Given the description of an element on the screen output the (x, y) to click on. 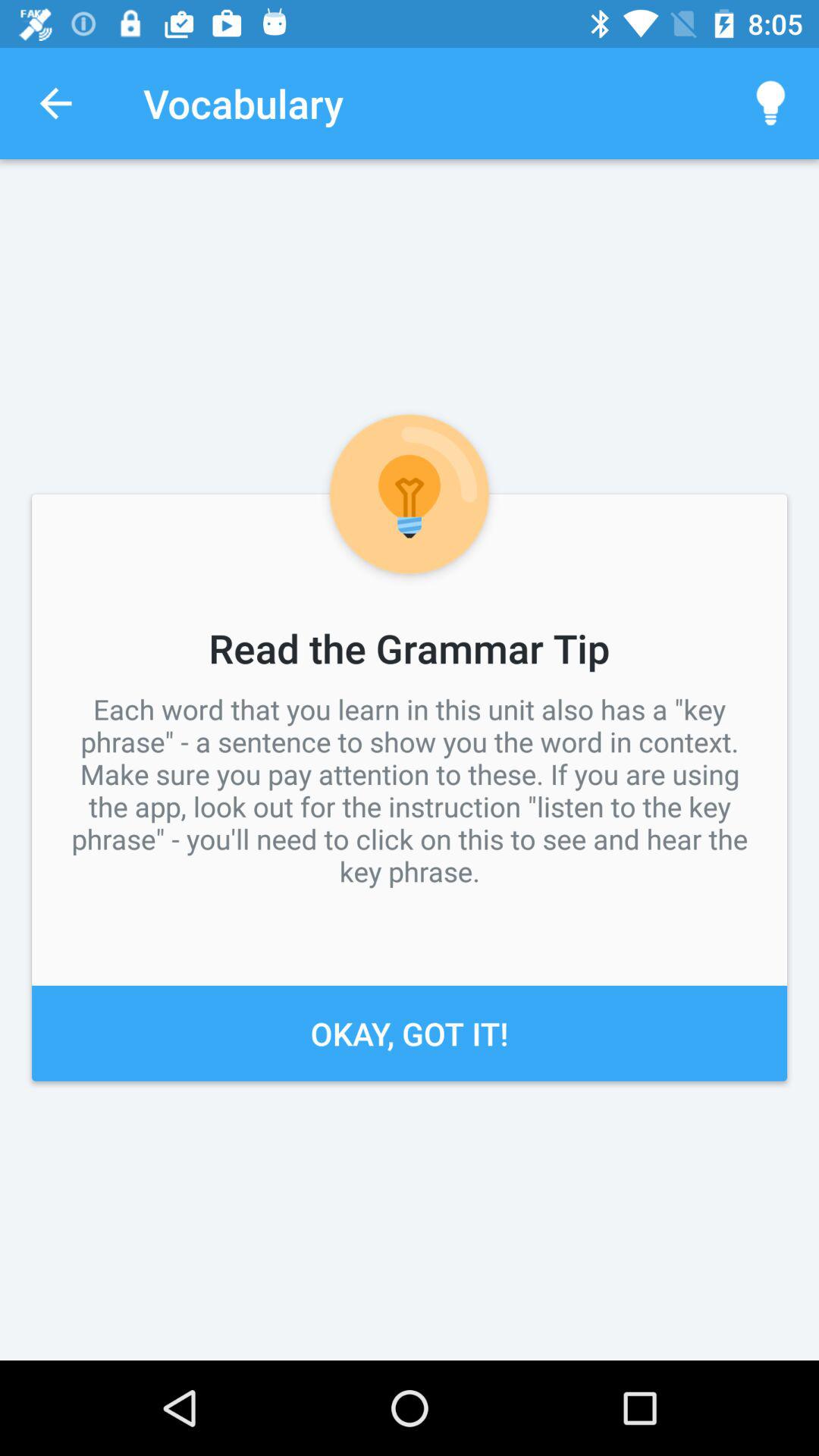
select item to the left of the vocabulary app (55, 103)
